Given the description of an element on the screen output the (x, y) to click on. 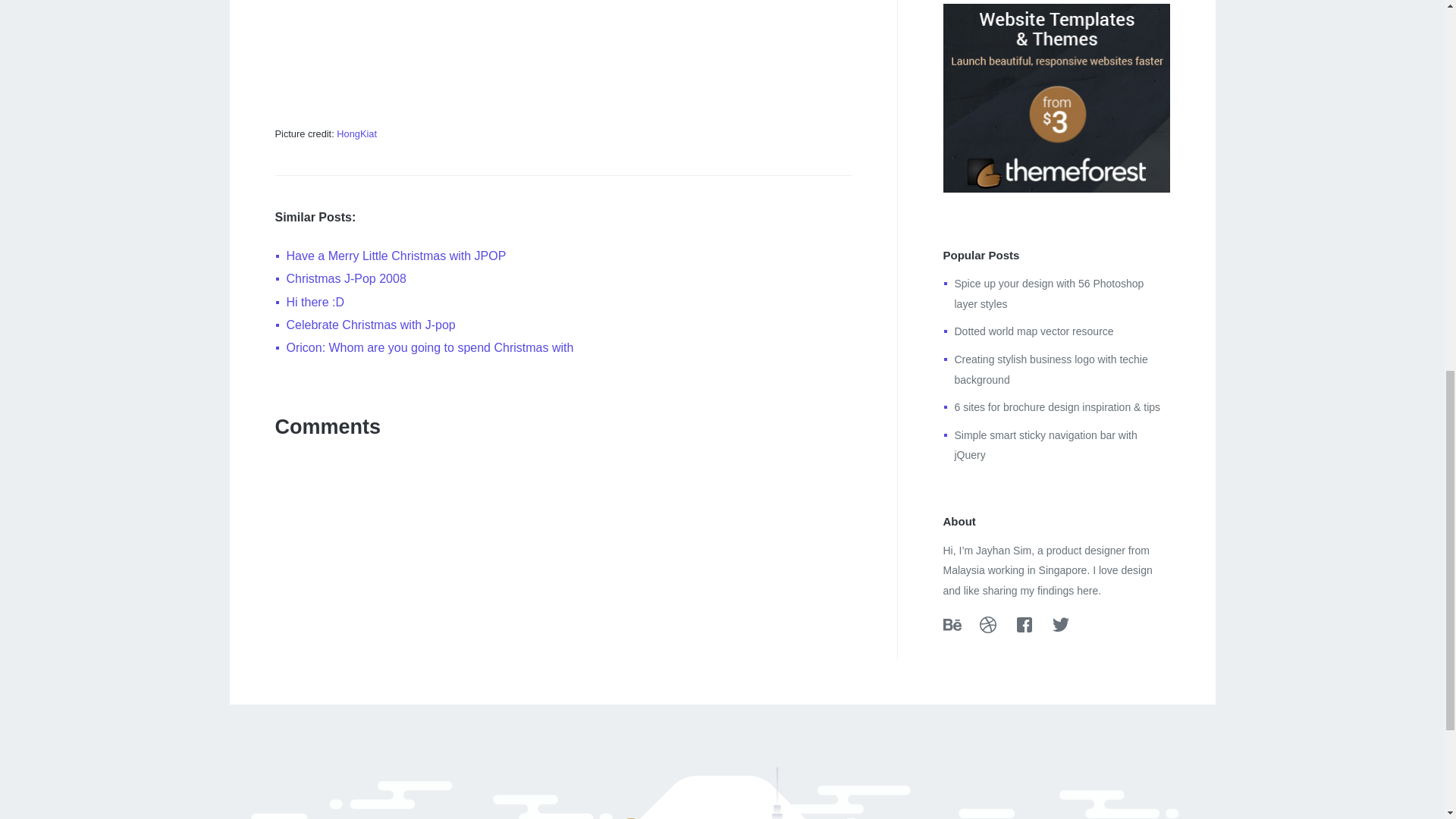
Hi there :D (314, 301)
HongKiat (356, 133)
December 30, 2007 (1056, 407)
Have a Merry Little Christmas with JPOP (396, 255)
Creating stylish business logo with techie background (1050, 368)
November 24, 2007 (1047, 293)
December 22, 2007 (370, 324)
December 24, 2007 (429, 347)
October 28, 2008 (1050, 368)
Oricon: Whom are you going to spend Christmas with (429, 347)
